Given the description of an element on the screen output the (x, y) to click on. 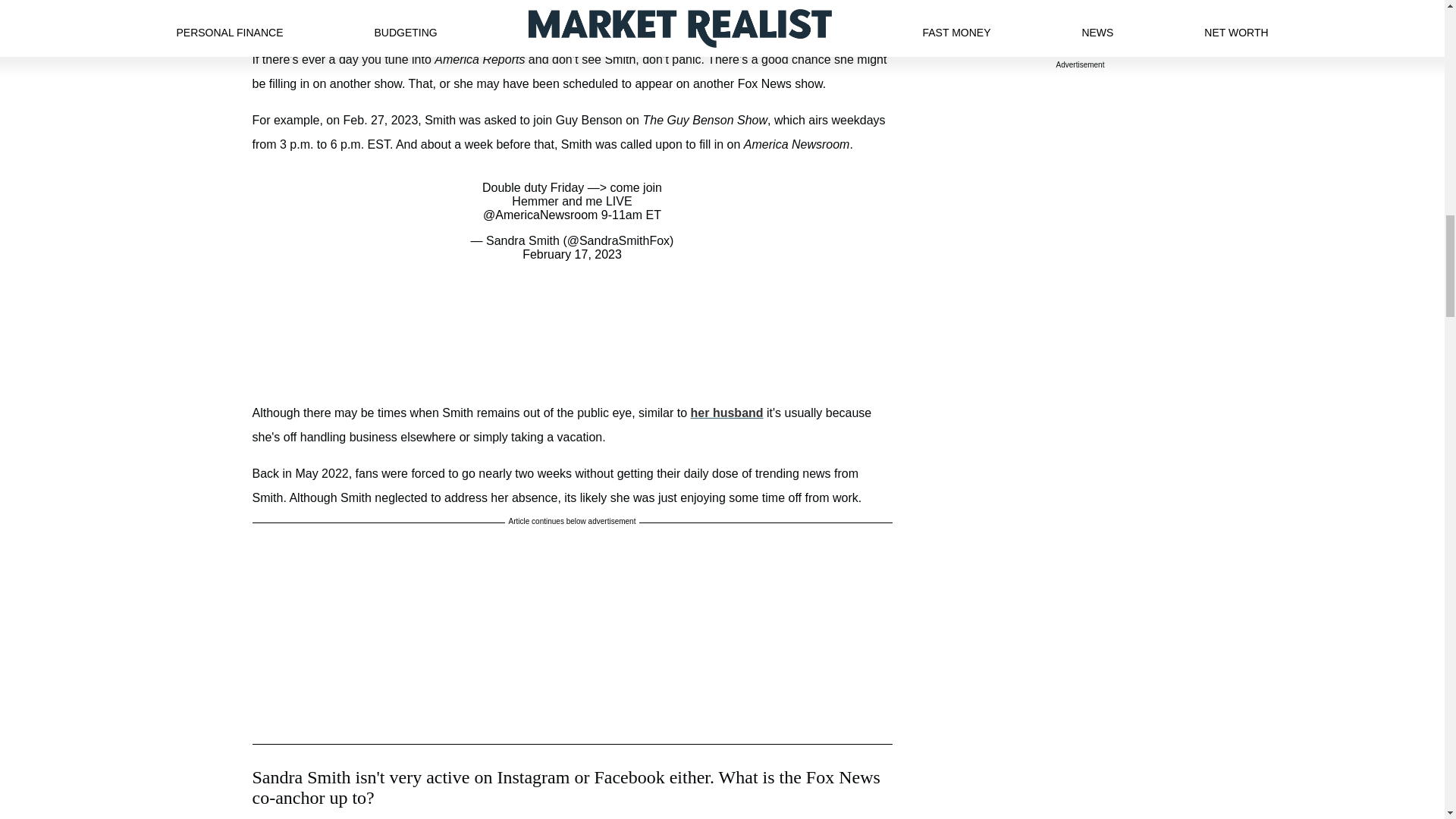
February 17, 2023 (571, 254)
SOURCE: FOX NEWS (571, 20)
her husband (726, 412)
